Given the description of an element on the screen output the (x, y) to click on. 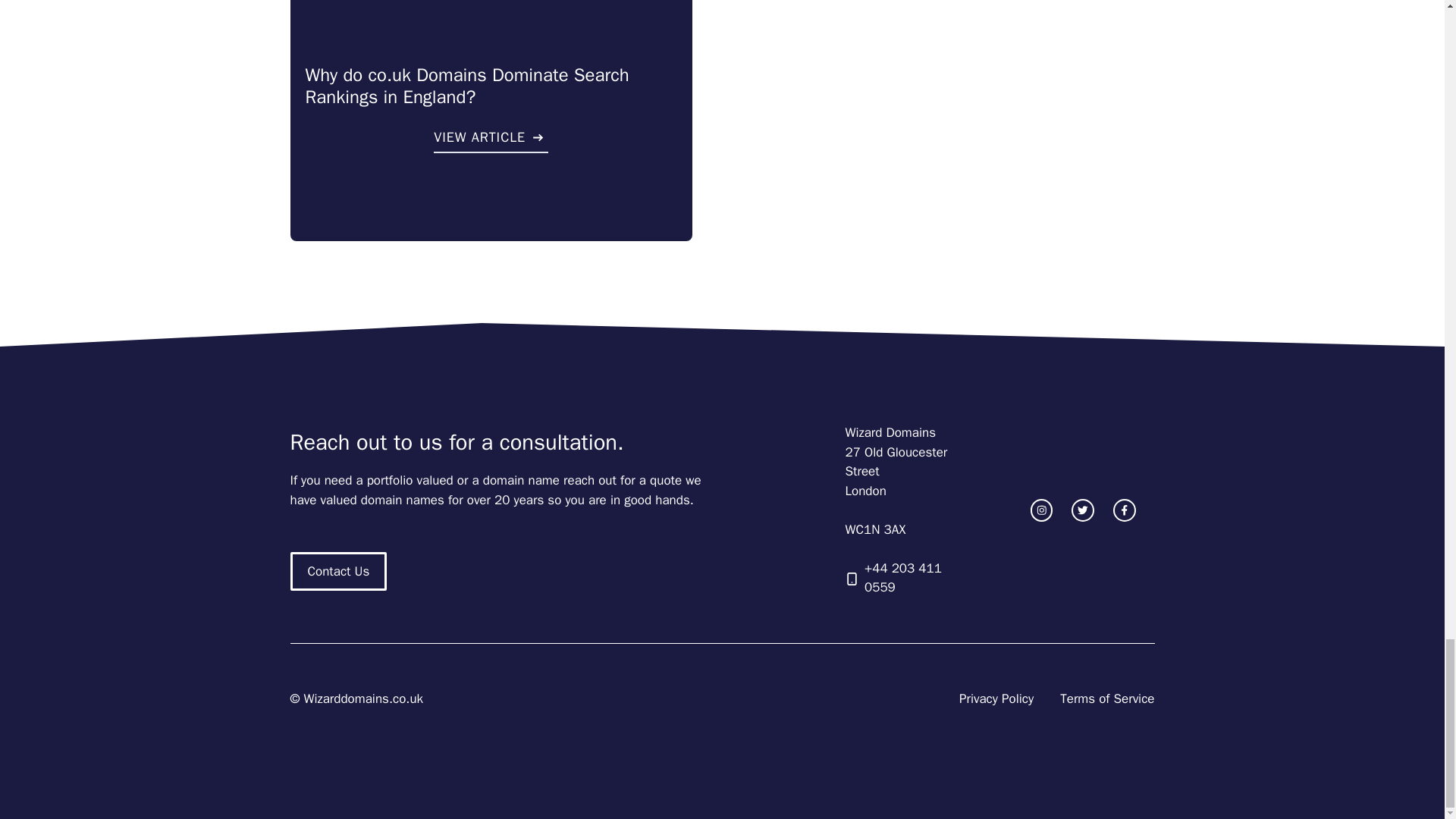
VIEW ARTICLE (490, 140)
Why do co.uk Domains Dominate Search Rankings in England? (466, 85)
Contact Us (338, 571)
